Given the description of an element on the screen output the (x, y) to click on. 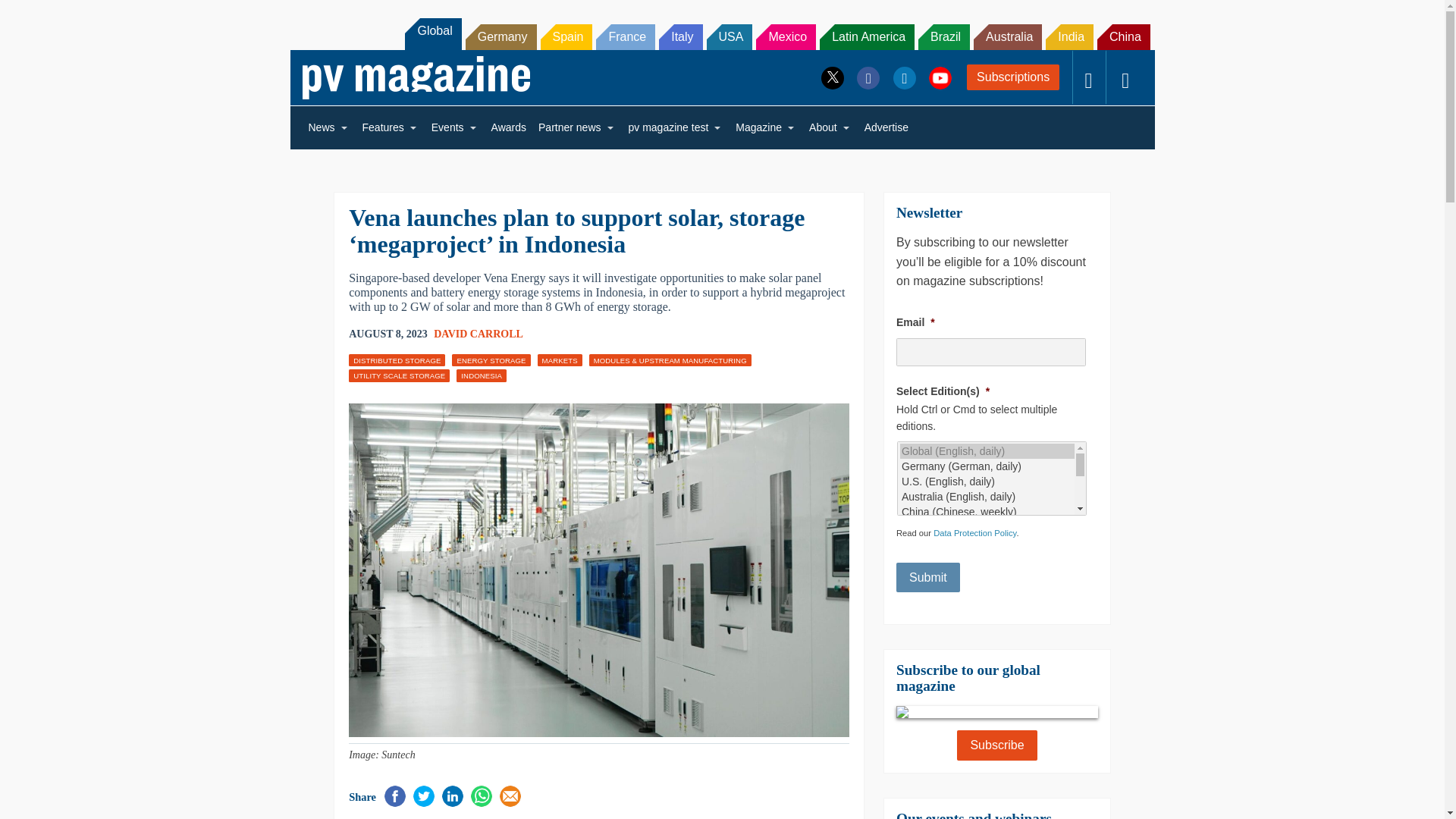
Mexico (785, 36)
Spain (566, 36)
Tuesday, August 8, 2023, 9:15 am (388, 334)
pv magazine - Photovoltaics Markets and Technology (415, 77)
China (1123, 36)
Latin America (866, 36)
Search (32, 15)
France (625, 36)
India (1069, 36)
pv magazine - Photovoltaics Markets and Technology (415, 77)
Italy (680, 36)
Subscriptions (1012, 77)
Submit (927, 577)
USA (729, 36)
Brazil (943, 36)
